Given the description of an element on the screen output the (x, y) to click on. 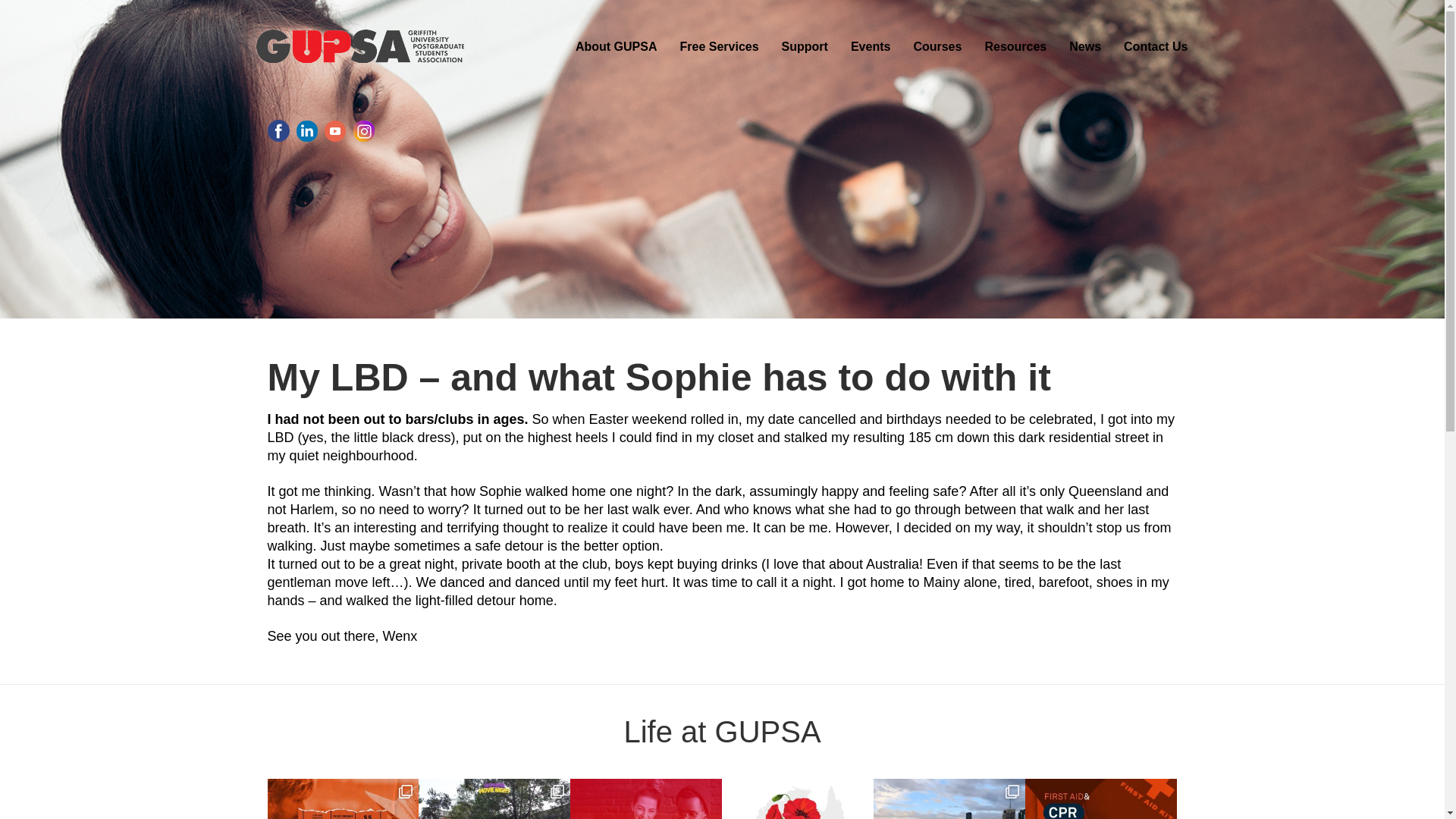
Free Services (719, 46)
About GUPSA (616, 46)
Support (805, 46)
Events (870, 46)
